Given the description of an element on the screen output the (x, y) to click on. 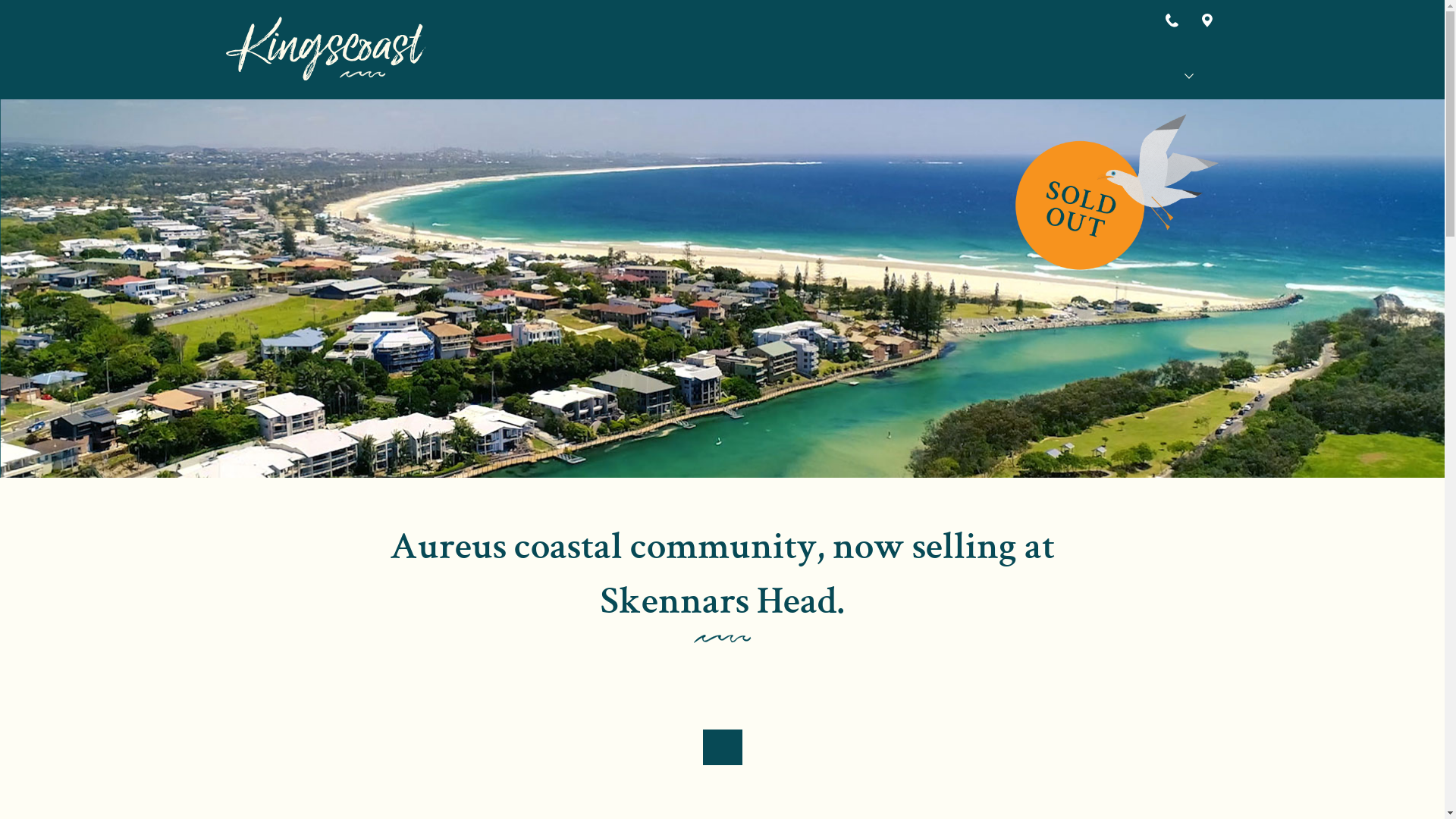
1300 899 715 Element type: text (1174, 20)
Kingscoast Element type: text (325, 49)
CONTACT Element type: text (1217, 75)
FIND OUT MORE Element type: text (721, 746)
NEW NORTH COAST Element type: text (1096, 75)
NEWS Element type: text (1177, 75)
DIRECTIONS Element type: text (1208, 20)
ABOUT US Element type: text (1122, 75)
BUILDING RESOURCES Element type: text (1150, 75)
KINGSCOAST LIFE Element type: text (1038, 75)
KINGSCLIFF LIVING Element type: text (1066, 75)
